Given the description of an element on the screen output the (x, y) to click on. 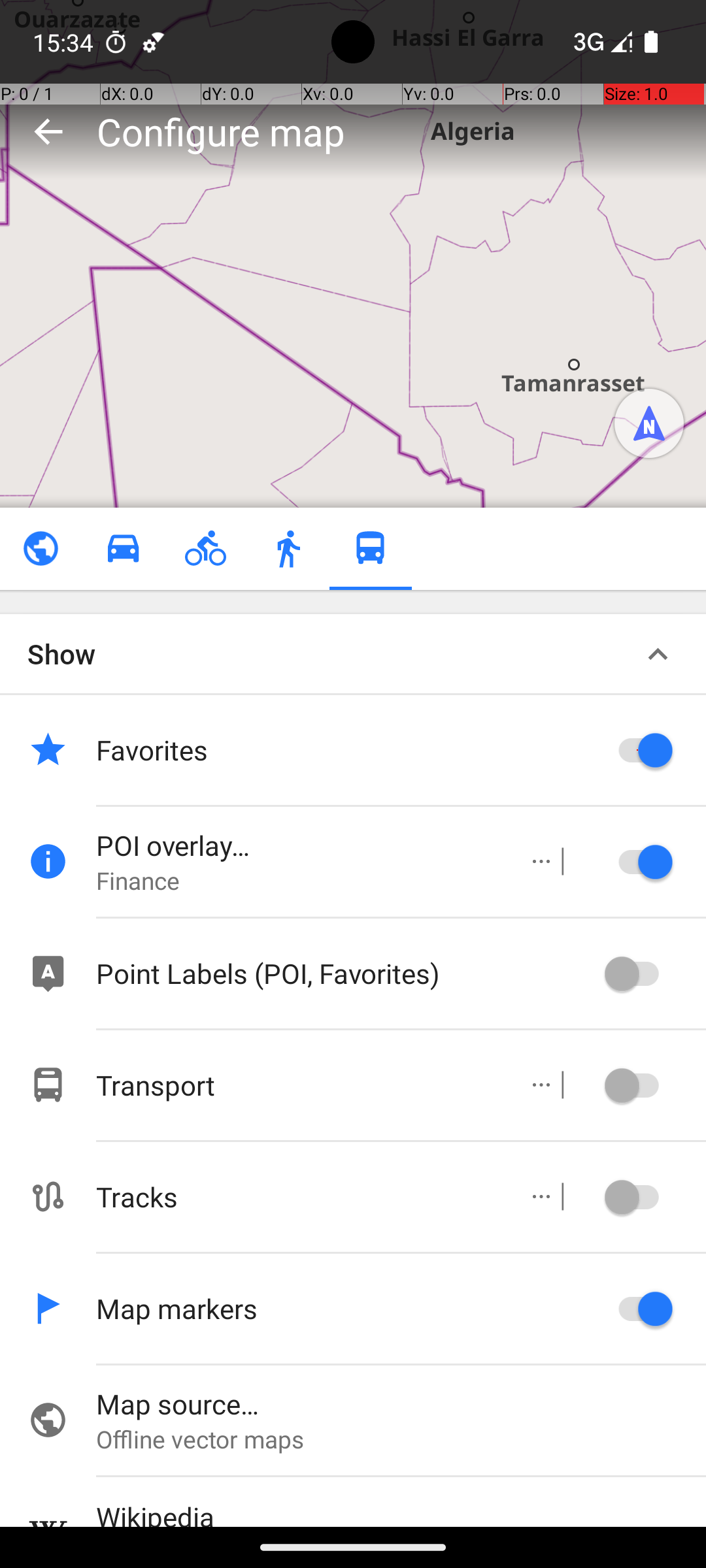
Movement direction Element type: android.widget.ImageButton (649, 423)
Browse map unchecked Element type: android.widget.ImageView (40, 548)
Public transport checked Element type: android.widget.ImageView (369, 548)
Show Element type: android.widget.TextView (61, 653)
POI overlay… Element type: android.widget.TextView (298, 844)
Point Labels (POI, Favorites) Element type: android.widget.TextView (346, 972)
Transport Element type: android.widget.TextView (298, 1084)
Map source… Element type: android.widget.TextView (401, 1403)
Offline vector maps Element type: android.widget.TextView (401, 1438)
